Given the description of an element on the screen output the (x, y) to click on. 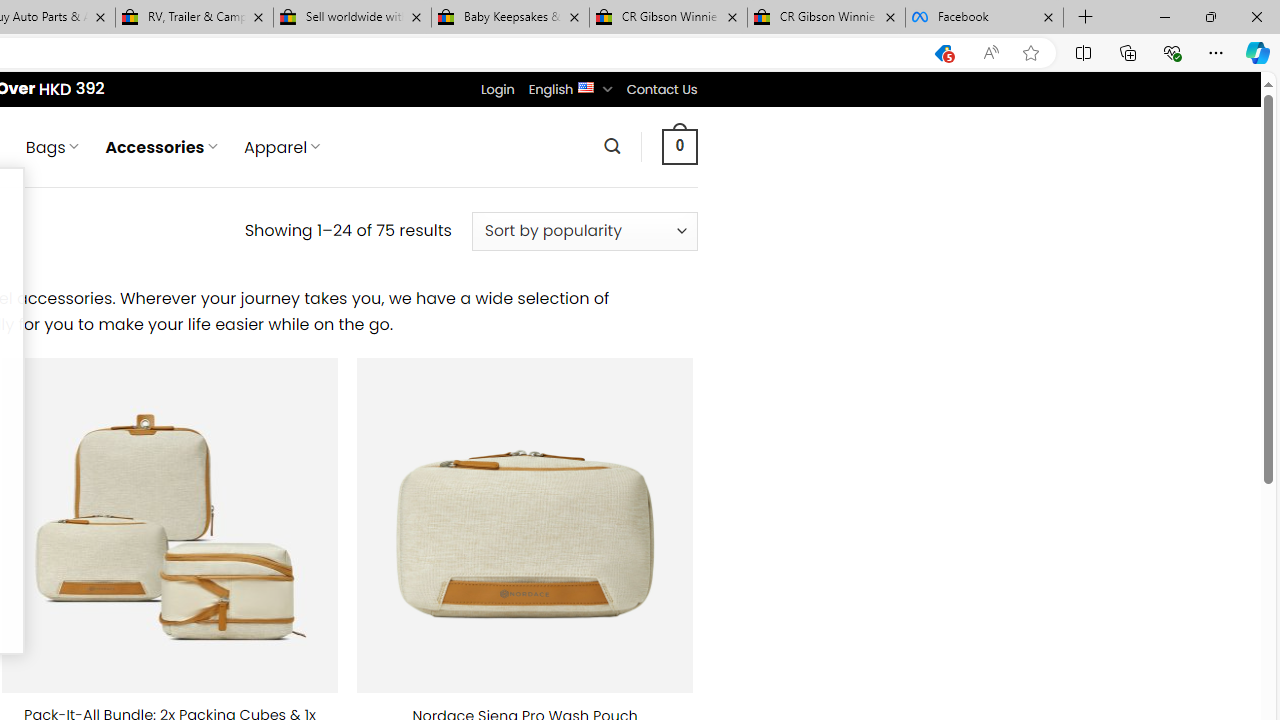
This site has coupons! Shopping in Microsoft Edge, 5 (943, 53)
English (586, 86)
